Given the description of an element on the screen output the (x, y) to click on. 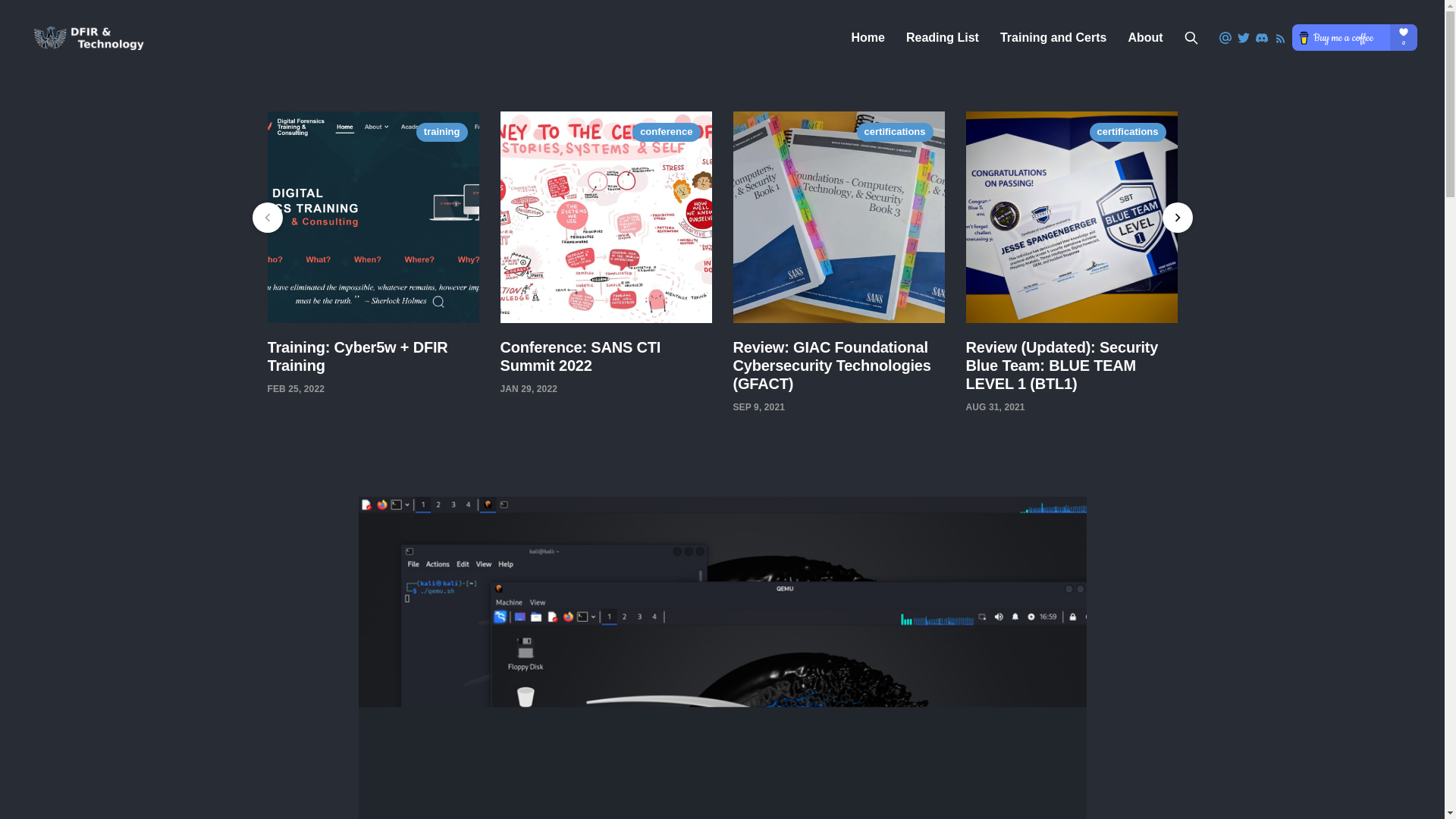
Reading List (941, 37)
Home (866, 37)
Conference: SANS CTI Summit 2022 (580, 356)
About (1143, 37)
Training and Certs (1053, 37)
